Given the description of an element on the screen output the (x, y) to click on. 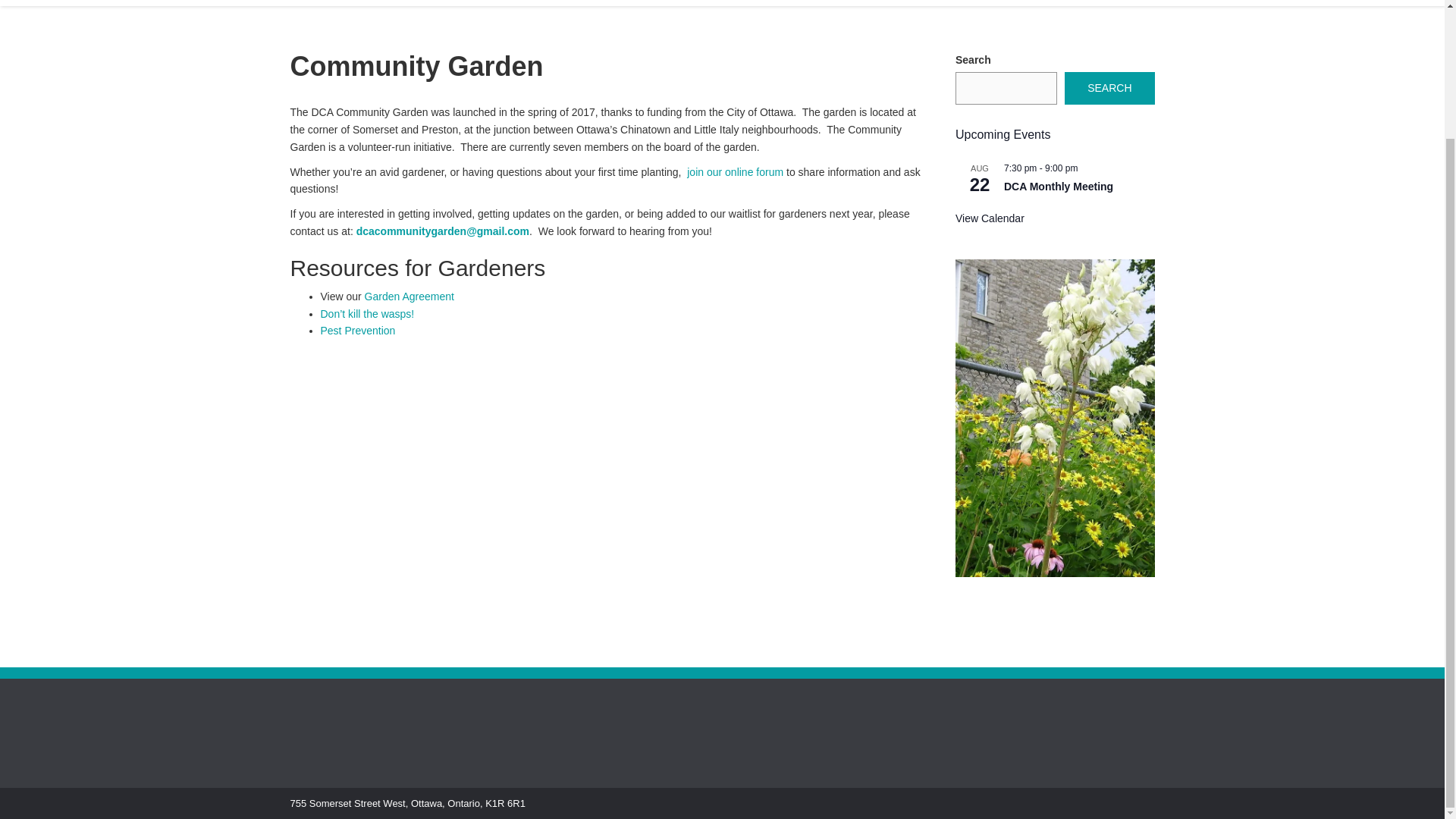
Pest Prevention (357, 330)
View Calendar (990, 218)
DCA Monthly Meeting (1058, 186)
Garden Agreement (409, 296)
join our online forum (735, 172)
SEARCH (1109, 88)
View more events. (990, 218)
DCA Monthly Meeting (1058, 186)
